Given the description of an element on the screen output the (x, y) to click on. 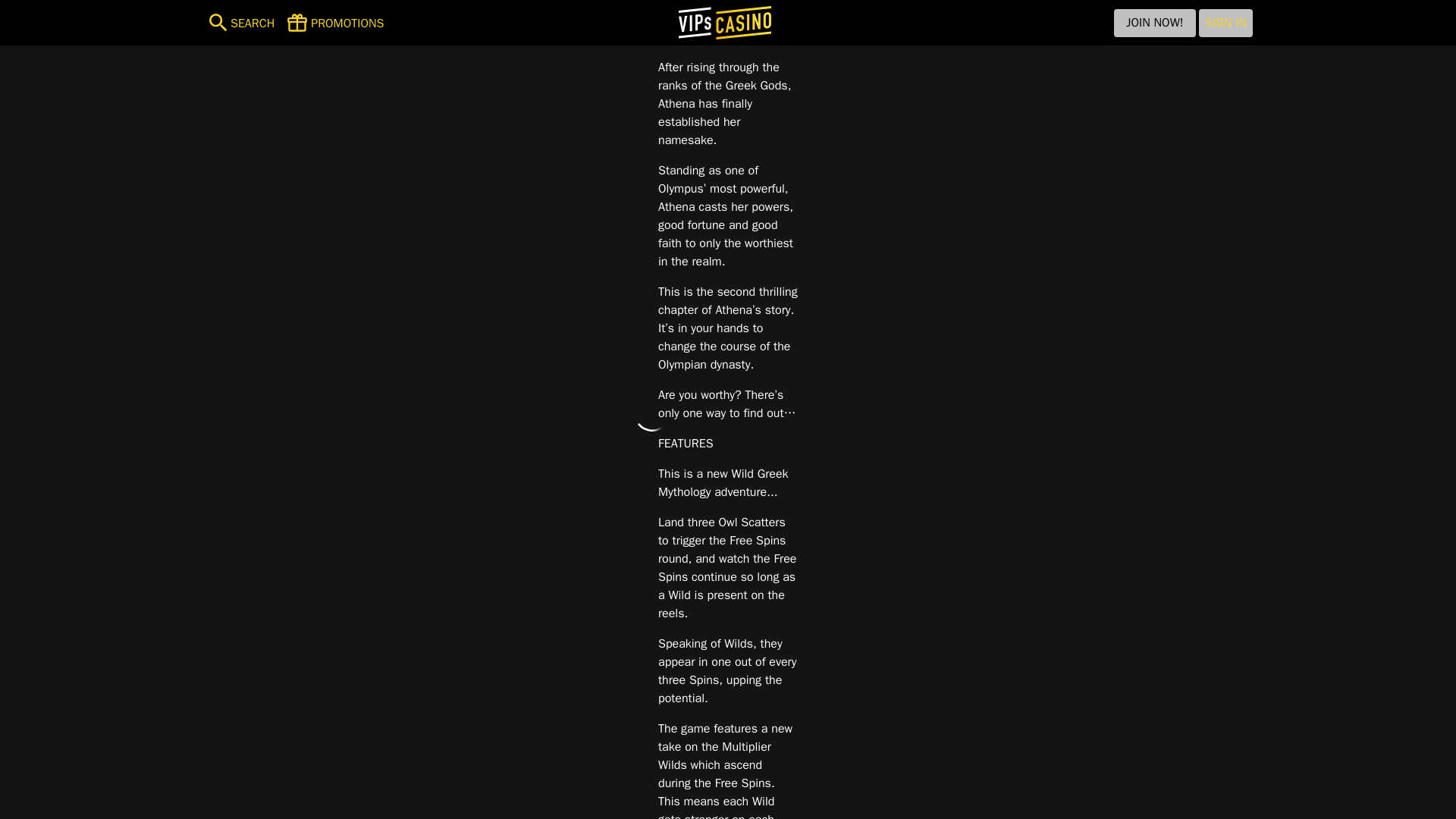
SIGN IN (1225, 22)
PROMOTIONS (335, 22)
SEARCH (238, 22)
JOIN NOW! (1154, 22)
